Given the description of an element on the screen output the (x, y) to click on. 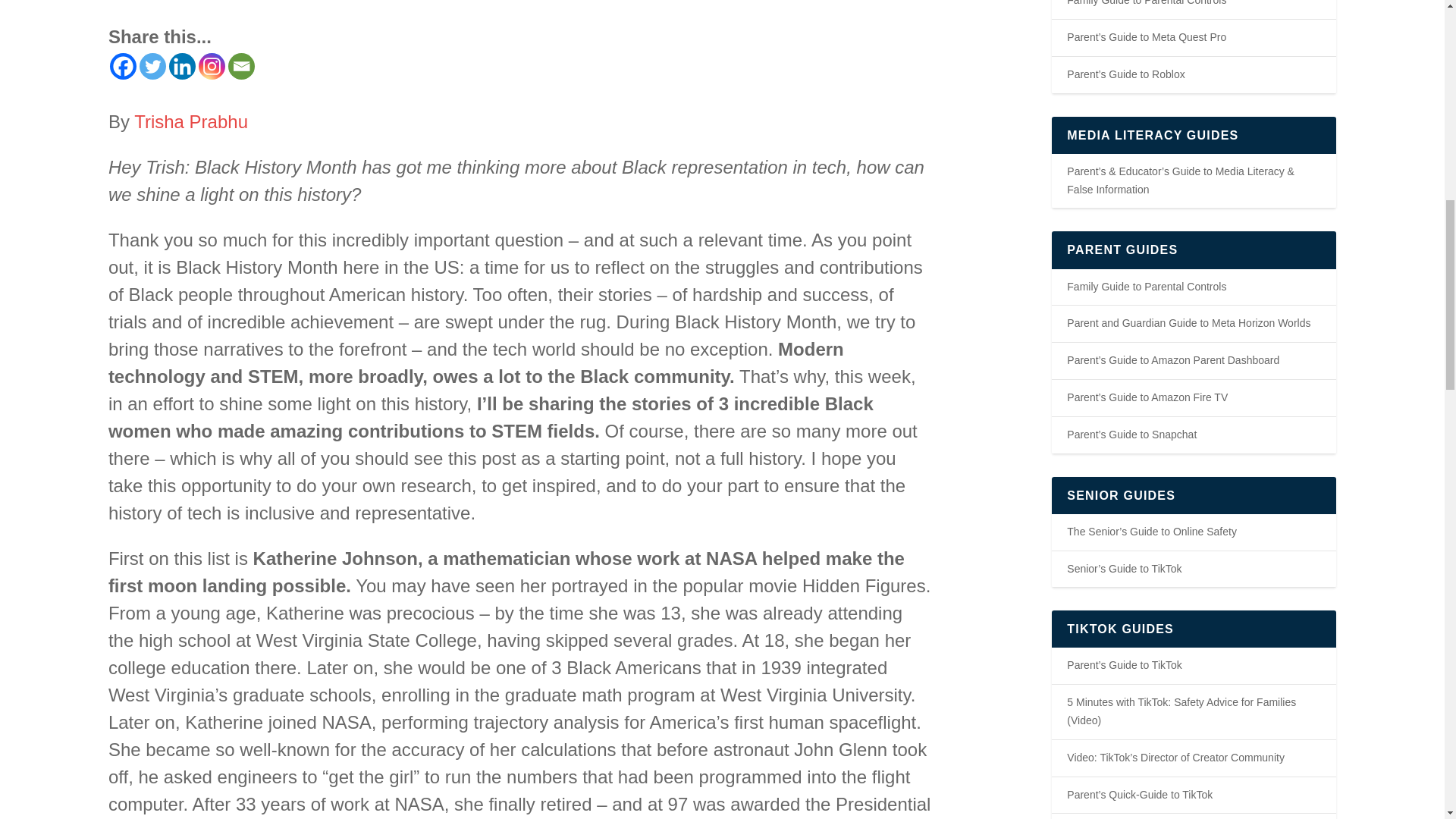
Email (241, 66)
Facebook (123, 66)
Twitter (152, 66)
Linkedin (181, 66)
Instagram (211, 66)
